Given the description of an element on the screen output the (x, y) to click on. 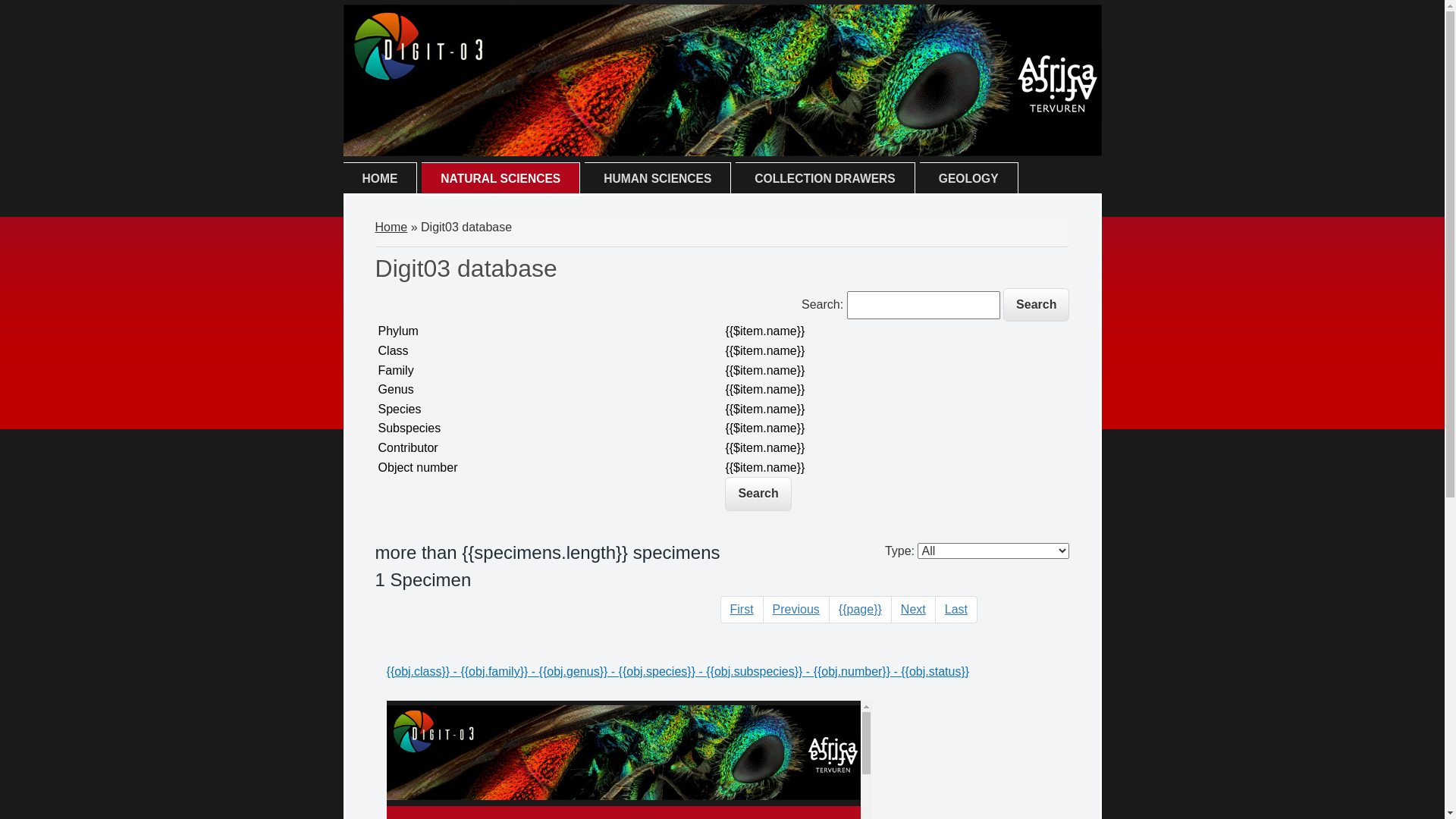
First Element type: text (741, 610)
HUMAN SCIENCES Element type: text (657, 178)
Last Element type: text (956, 610)
Search Element type: text (1036, 305)
Home Element type: hover (721, 151)
GEOLOGY Element type: text (968, 178)
Search Element type: text (757, 493)
Next Element type: text (913, 610)
COLLECTION DRAWERS Element type: text (824, 178)
NATURAL SCIENCES Element type: text (500, 178)
HOME Element type: text (379, 178)
Previous Element type: text (795, 610)
Home Element type: text (391, 226)
